Given the description of an element on the screen output the (x, y) to click on. 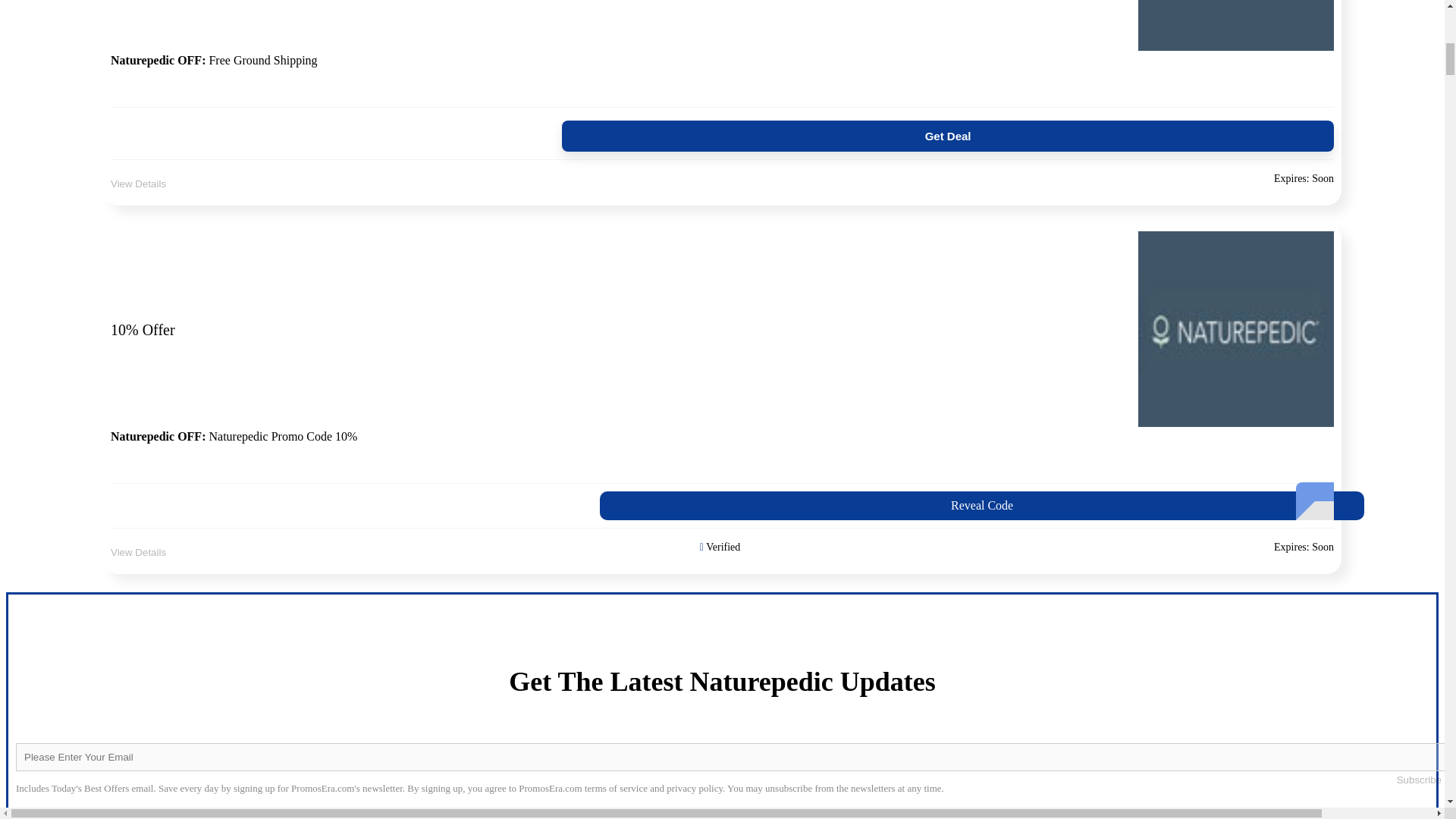
View Details (137, 183)
Subscribe (721, 505)
Get Deal (1418, 779)
View Details (721, 133)
